Given the description of an element on the screen output the (x, y) to click on. 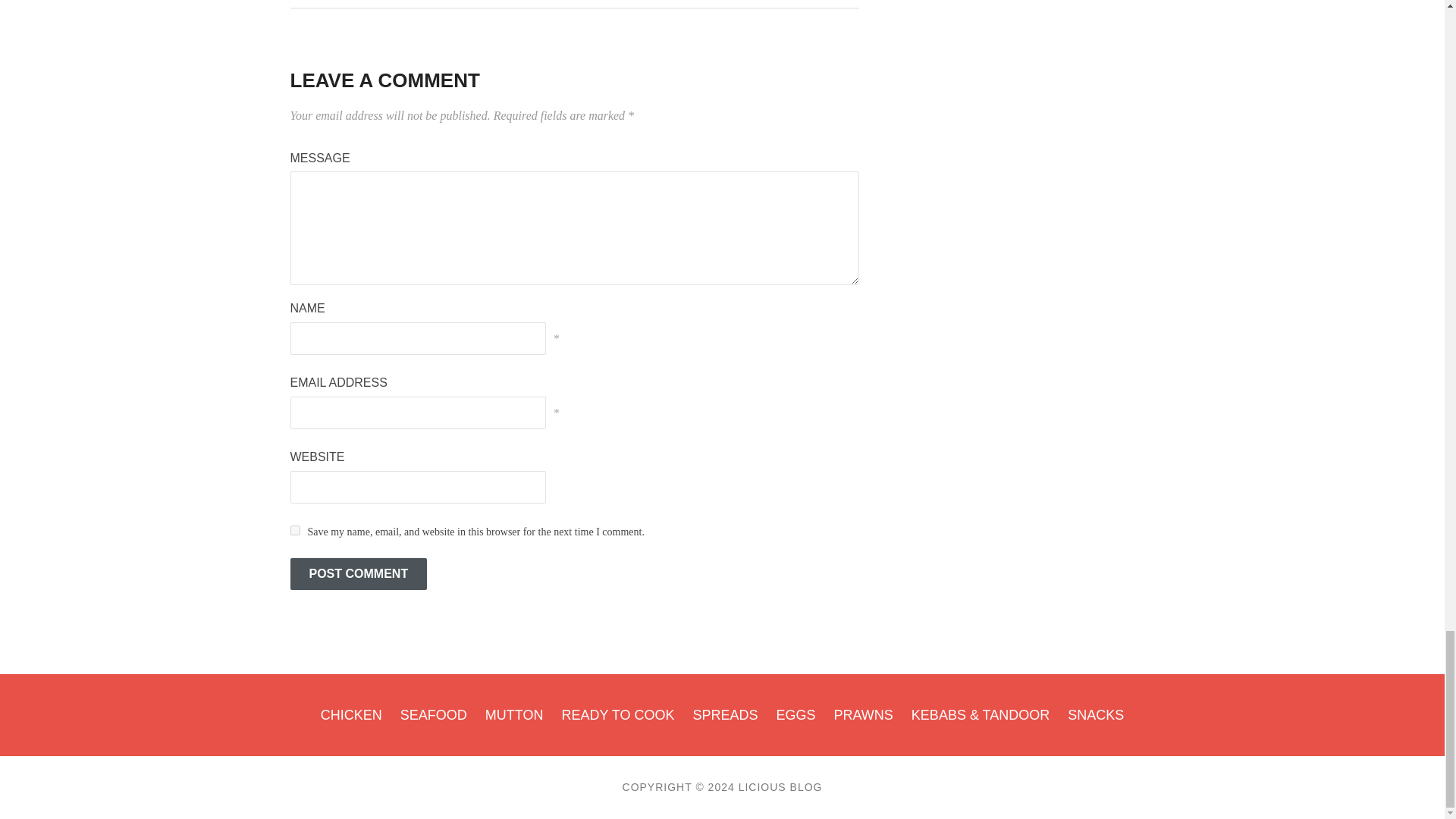
yes (294, 530)
Post Comment (357, 573)
